Given the description of an element on the screen output the (x, y) to click on. 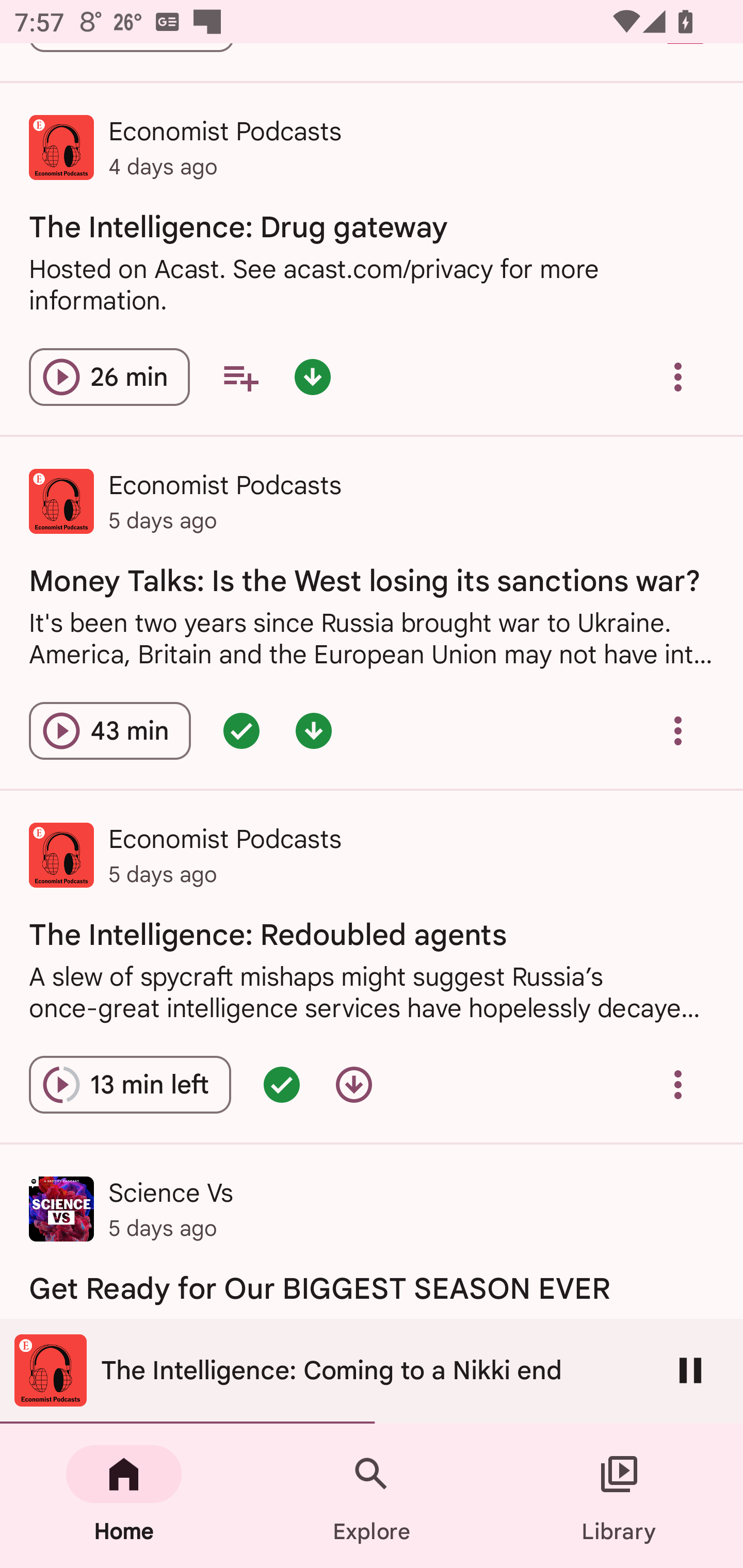
Play episode The Intelligence: Drug gateway 26 min (109, 376)
Add to your queue (240, 376)
Episode downloaded - double tap for options (312, 376)
Overflow menu (677, 376)
Episode queued - double tap for options (241, 730)
Episode downloaded - double tap for options (313, 730)
Overflow menu (677, 730)
Episode queued - double tap for options (281, 1084)
Download episode (354, 1084)
Overflow menu (677, 1084)
Pause (690, 1370)
Explore (371, 1495)
Library (619, 1495)
